Given the description of an element on the screen output the (x, y) to click on. 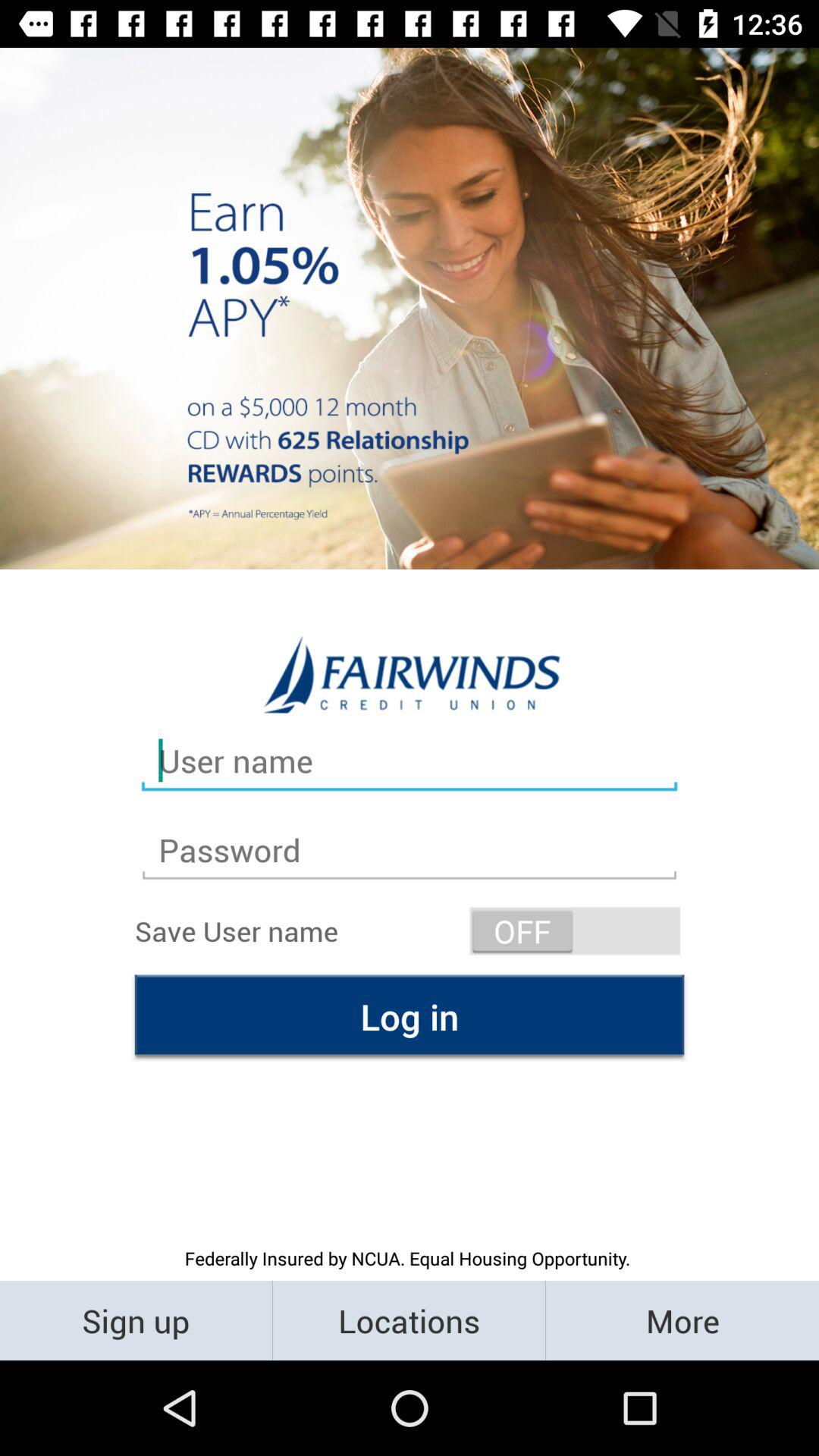
turn on the item below the federally insured by icon (409, 1320)
